Given the description of an element on the screen output the (x, y) to click on. 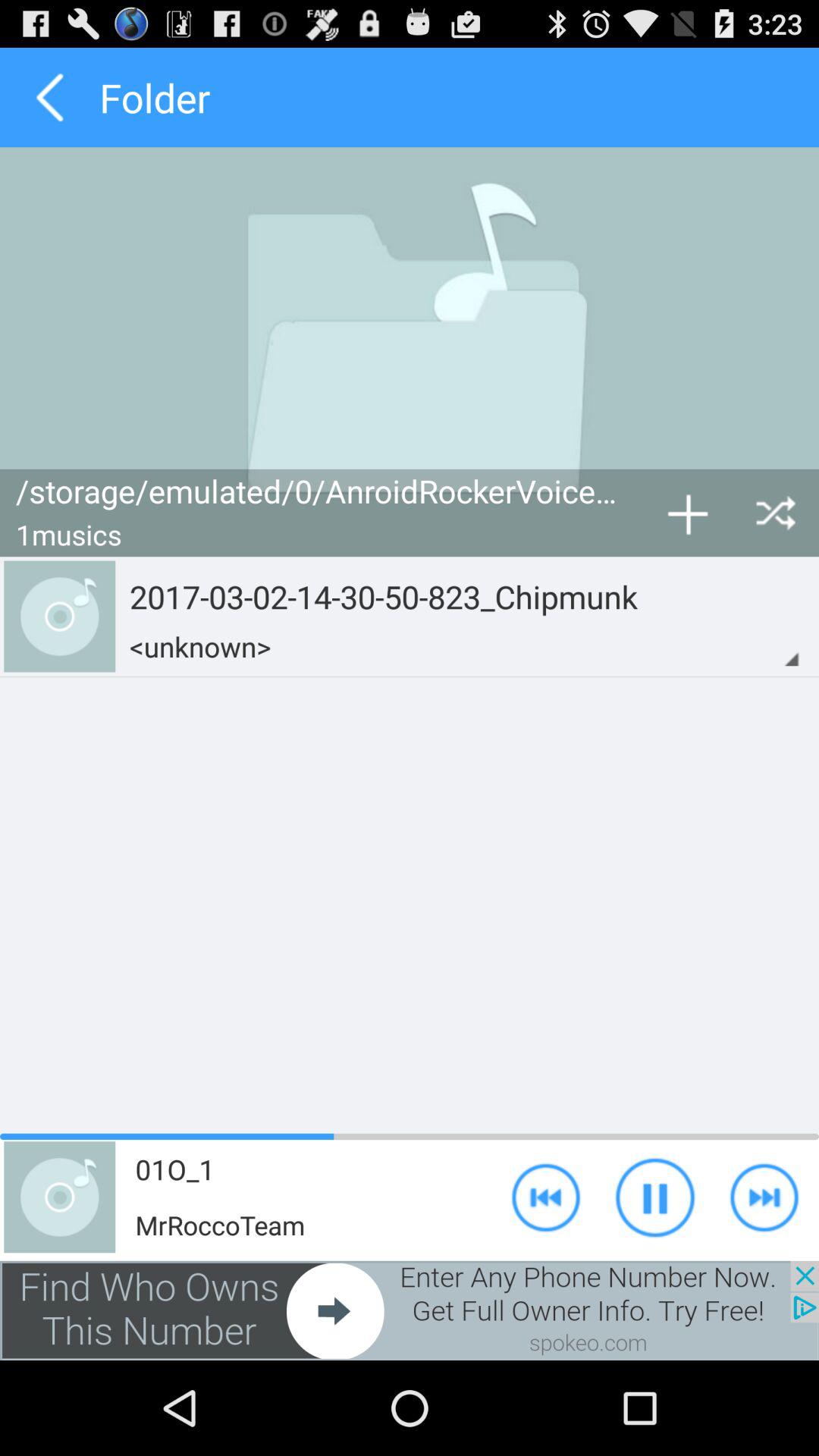
for back (49, 97)
